Given the description of an element on the screen output the (x, y) to click on. 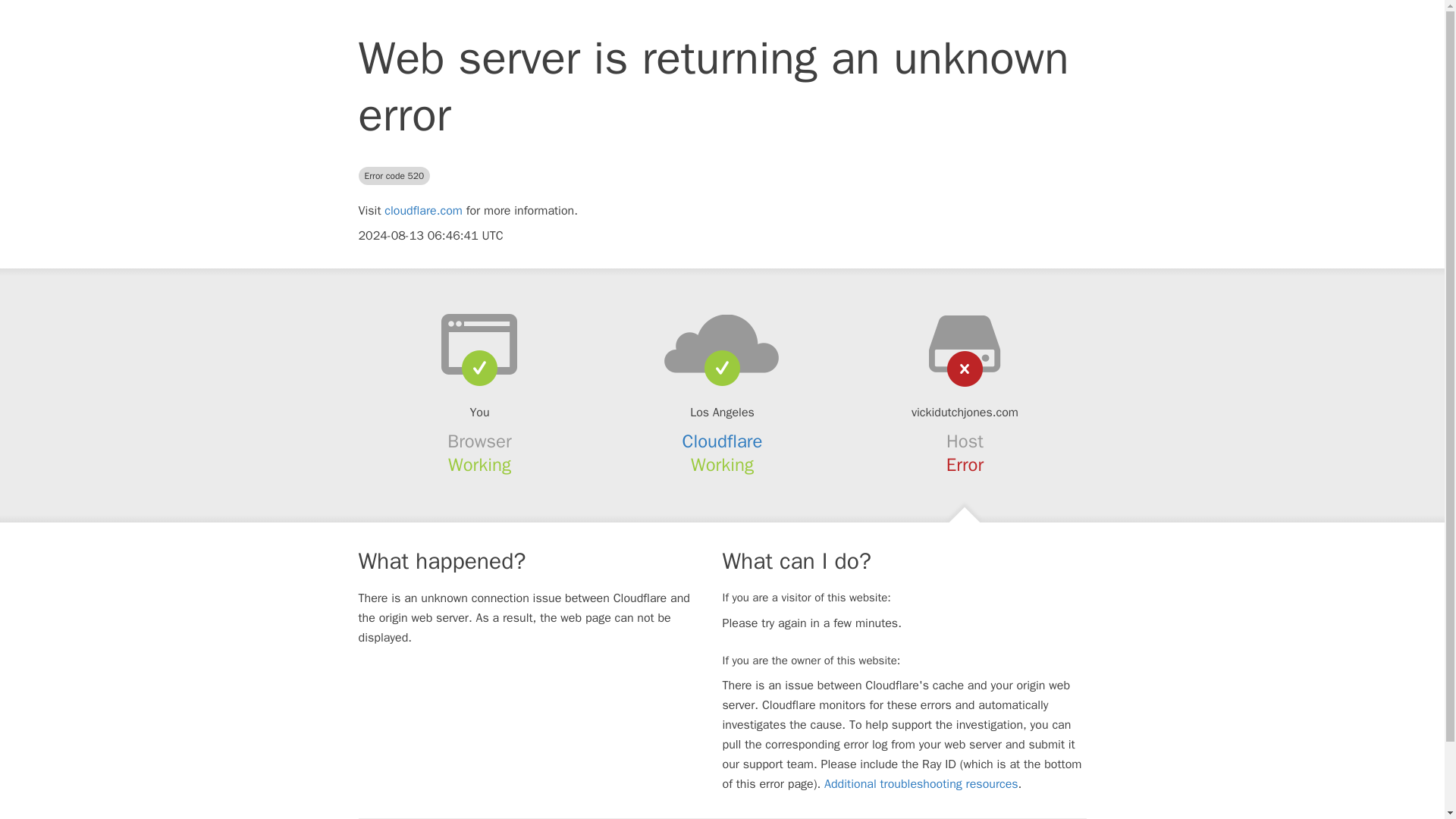
cloudflare.com (423, 210)
Additional troubleshooting resources (920, 783)
Cloudflare (722, 440)
